Given the description of an element on the screen output the (x, y) to click on. 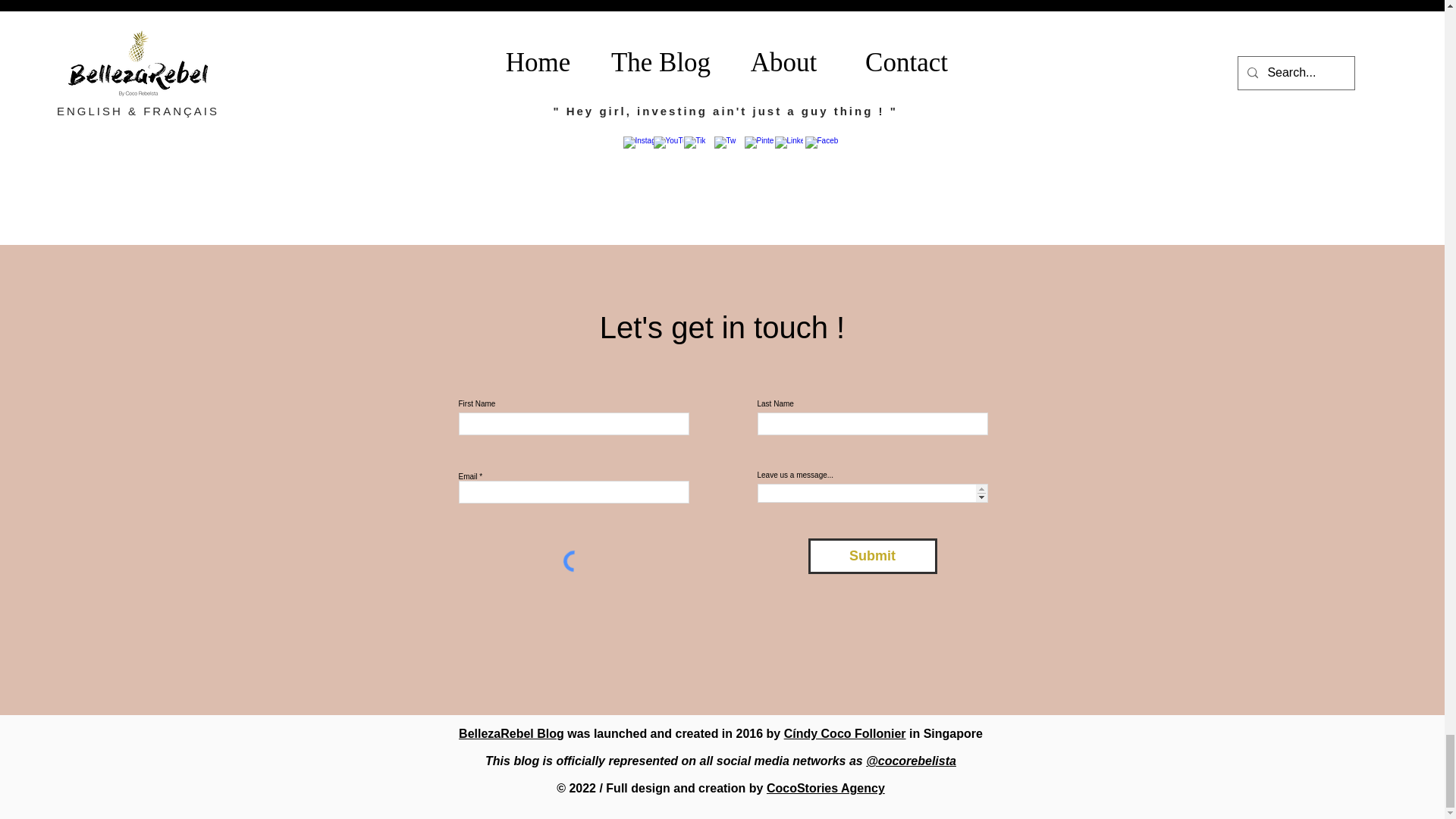
Pin to Pinterest (793, 237)
